Given the description of an element on the screen output the (x, y) to click on. 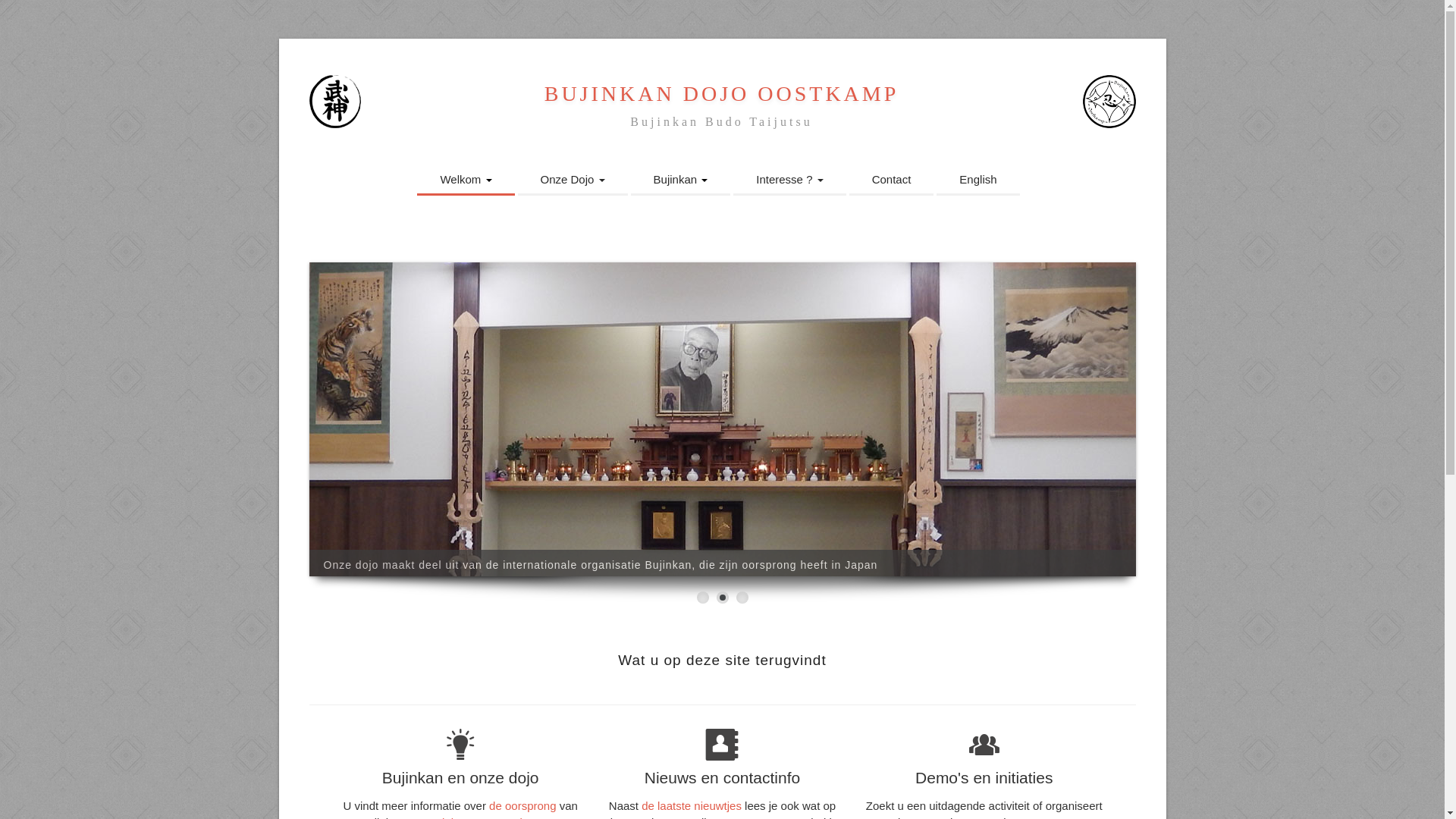
Contact Element type: text (891, 180)
Bujinkan Budo Taijutsu Element type: text (720, 121)
Interesse ? Element type: text (789, 180)
Site Name Element type: hover (334, 101)
Onze Dojo Element type: text (572, 180)
de laatste nieuwtjes Element type: text (691, 805)
Welkom Element type: text (465, 180)
Bujinkan Element type: text (680, 180)
de oorsprong Element type: text (522, 805)
BUJINKAN DOJO OOSTKAMP Element type: text (721, 93)
English Element type: text (977, 180)
Site Name Element type: hover (1108, 101)
